Given the description of an element on the screen output the (x, y) to click on. 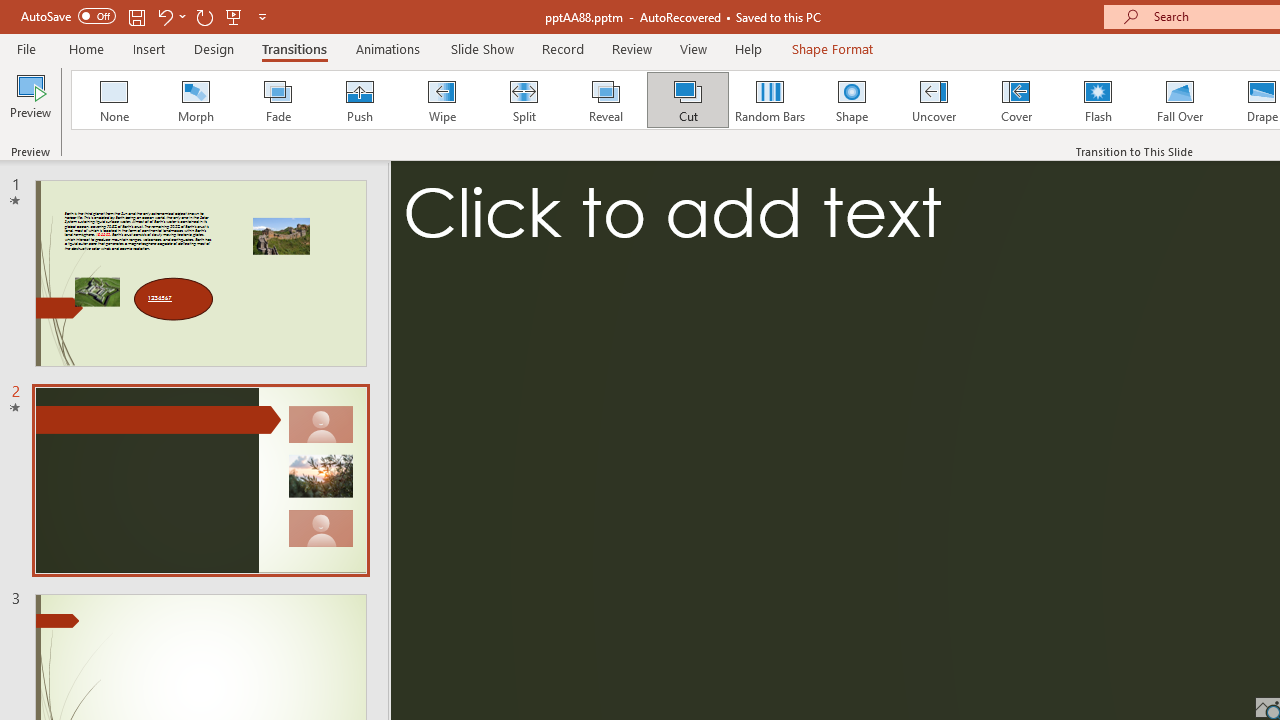
Fall Over (1180, 100)
Cover (1016, 100)
Random Bars (770, 100)
Morph (195, 100)
Reveal (605, 100)
Split (523, 100)
